Given the description of an element on the screen output the (x, y) to click on. 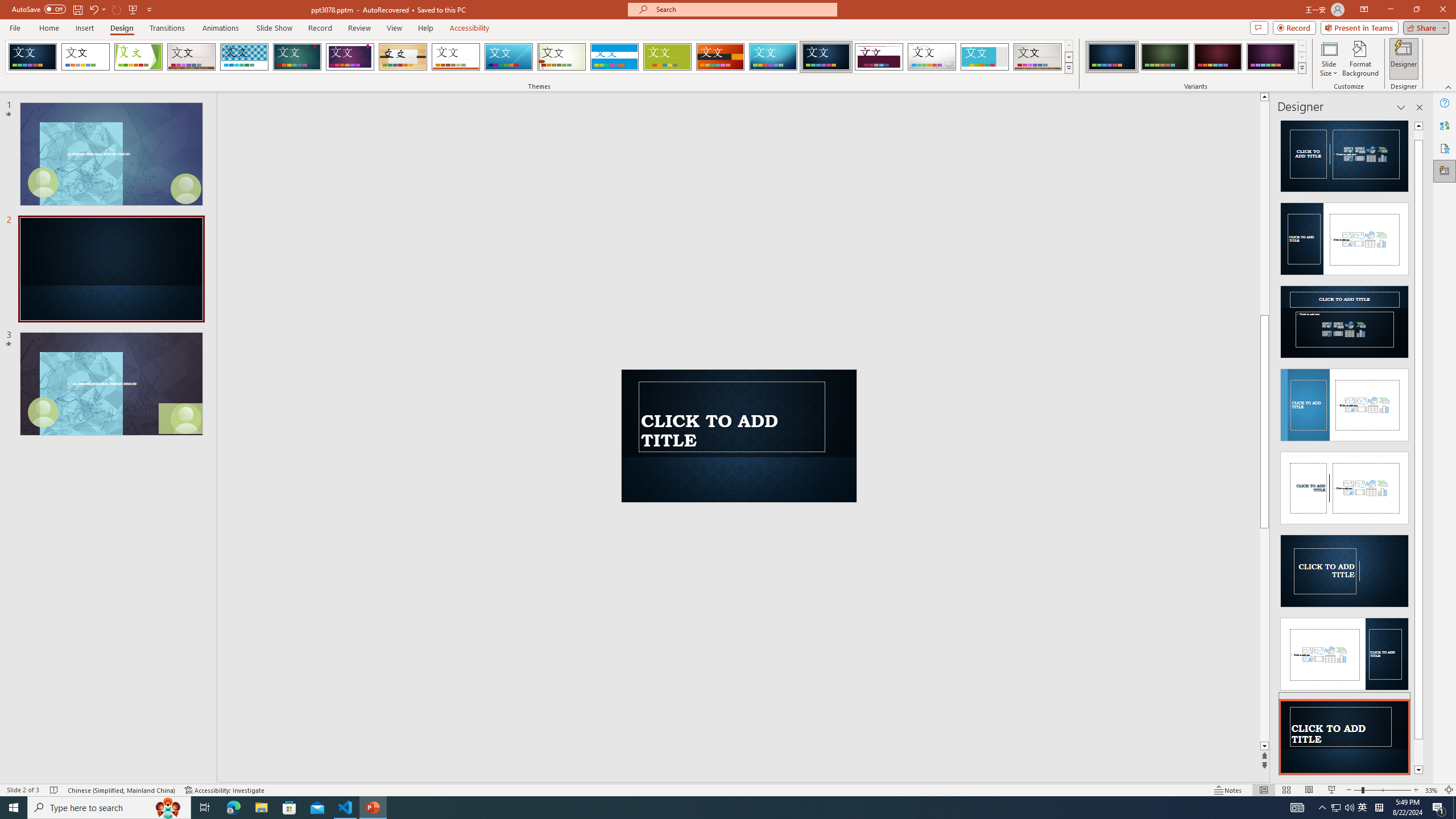
Wisp (561, 56)
